Given the description of an element on the screen output the (x, y) to click on. 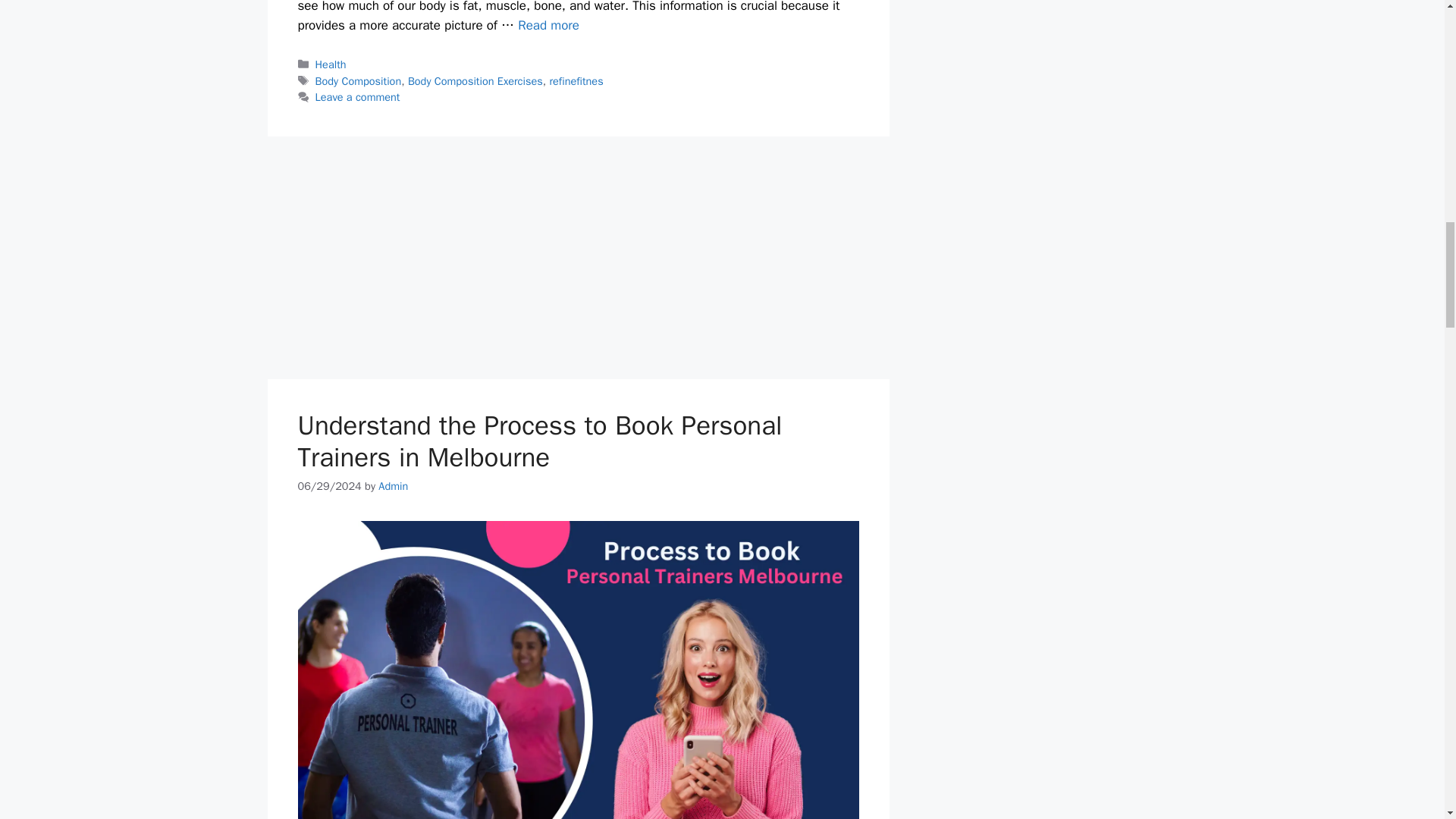
View all posts by Admin (392, 486)
Leave a comment (357, 97)
Health (330, 64)
Body Composition Exercises (475, 80)
refinefitnes (575, 80)
Read more (548, 25)
Advertisement (577, 257)
Body Composition (358, 80)
Admin (392, 486)
